Given the description of an element on the screen output the (x, y) to click on. 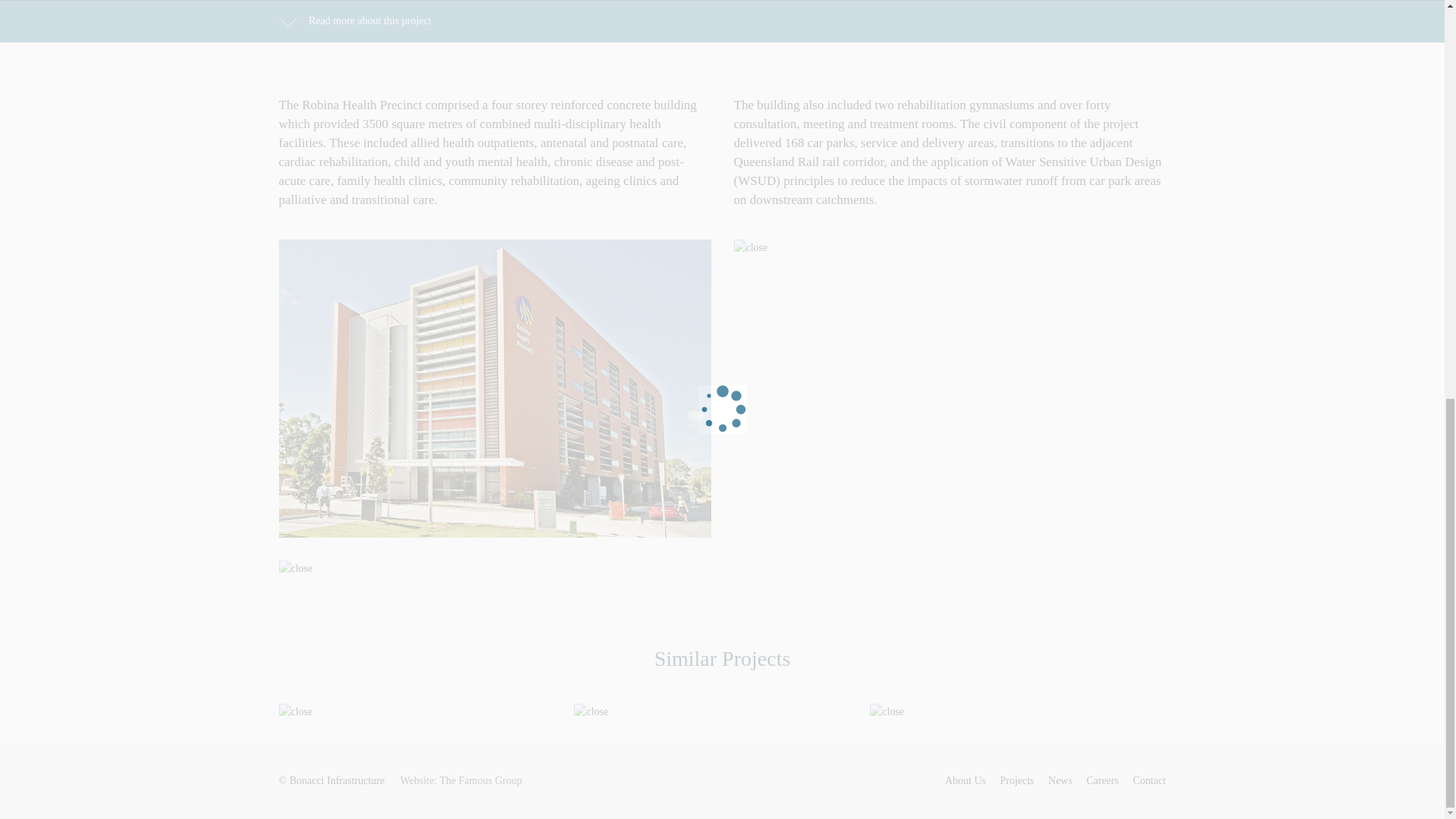
Contact (1149, 780)
News (1059, 780)
Website: The Famous Group (461, 780)
Read more about this project (354, 20)
Projects (1016, 780)
Careers (1102, 780)
About Us (964, 780)
